Given the description of an element on the screen output the (x, y) to click on. 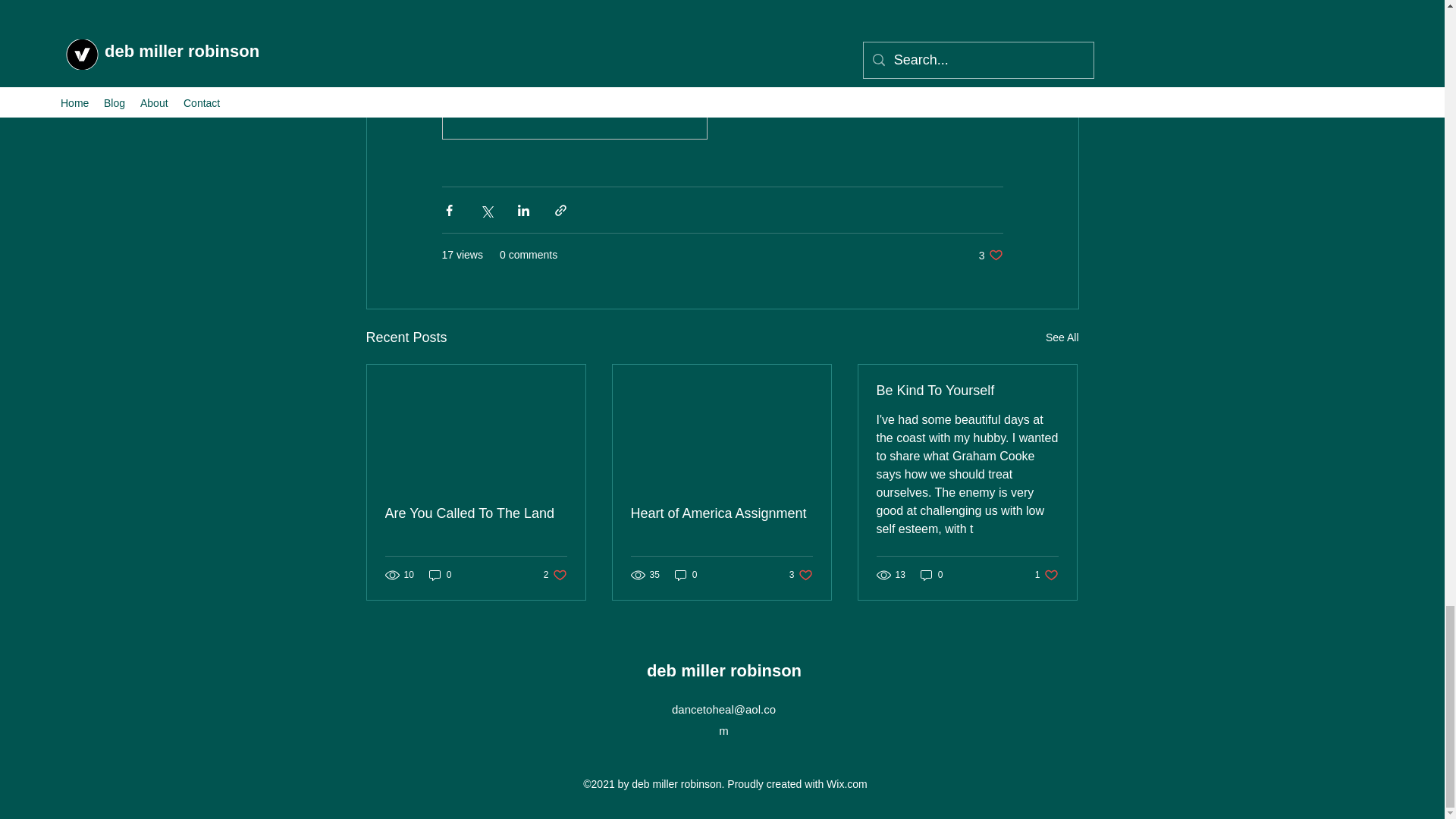
0 (931, 575)
0 (685, 575)
0 (440, 575)
See All (1061, 337)
Are You Called To The Land (990, 255)
Heart of America Assignment (555, 575)
Be Kind To Yourself (800, 575)
